Given the description of an element on the screen output the (x, y) to click on. 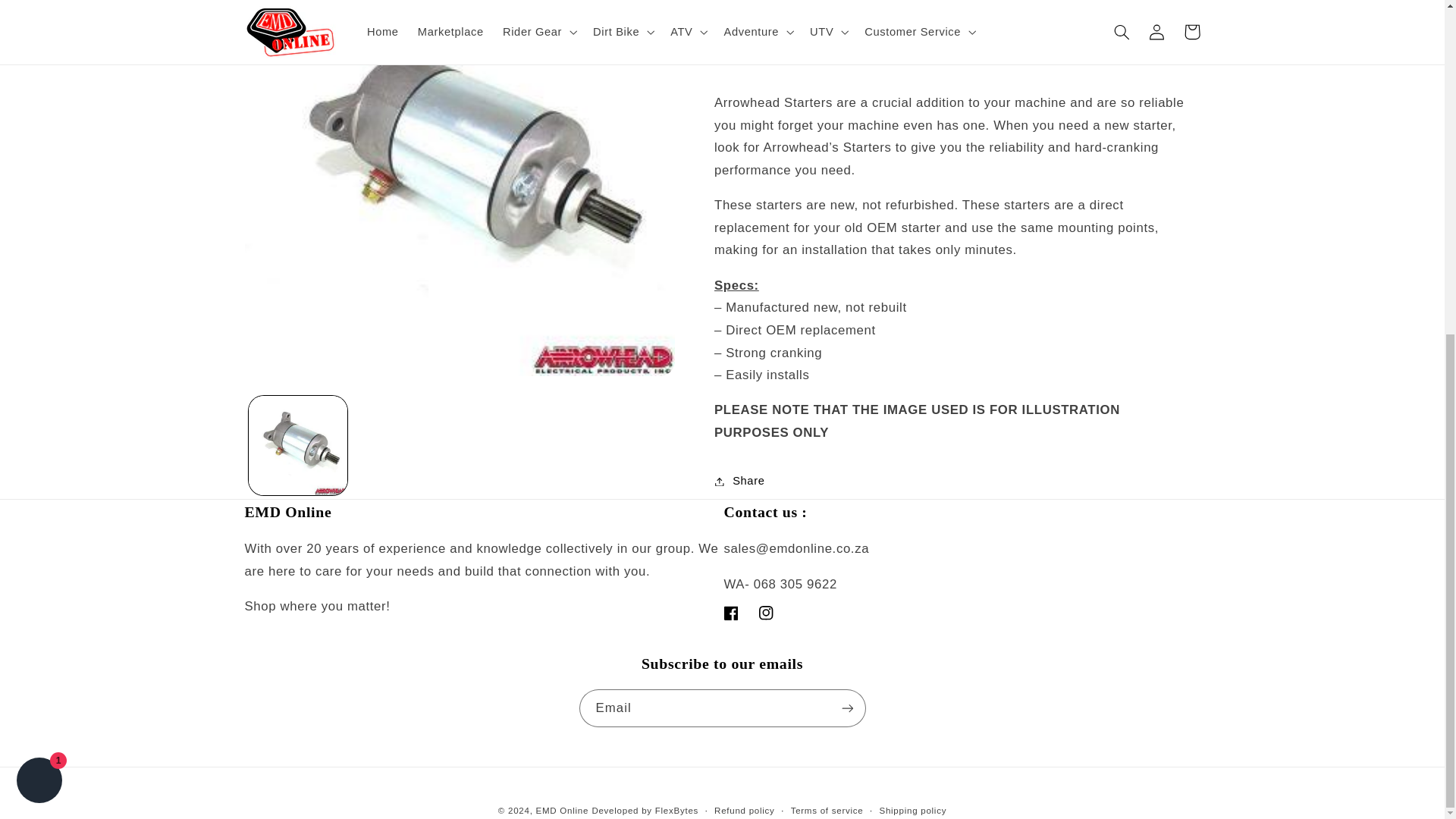
Shopify online store chat (38, 223)
